Given the description of an element on the screen output the (x, y) to click on. 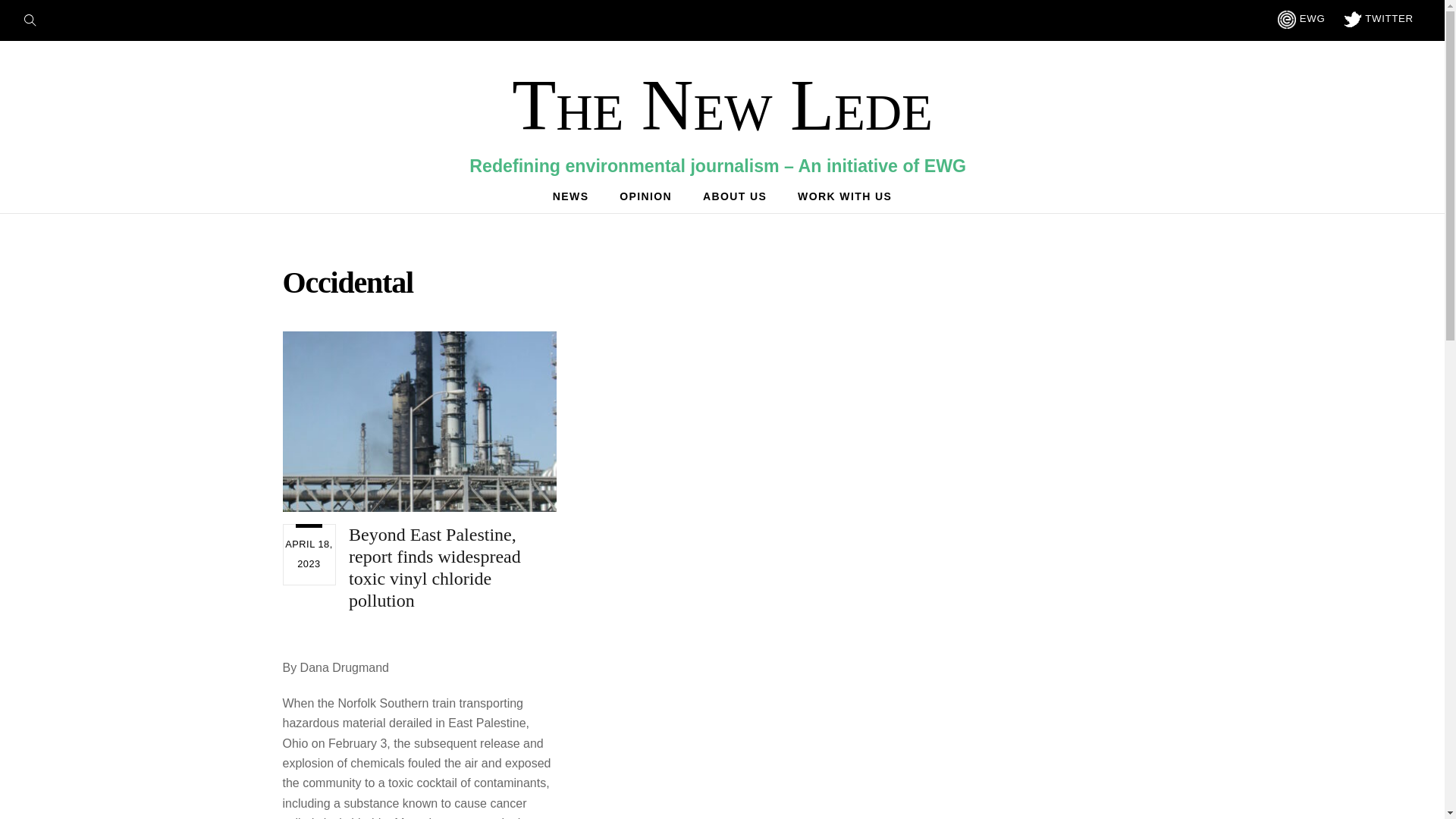
Chemical safety board formosa plastics (721, 196)
TWITTER (419, 421)
OPINION (1378, 18)
WORK WITH US (645, 196)
Search (845, 196)
NEWS (35, 18)
The New Lede (570, 196)
The New Lede (722, 105)
ABOUT US (722, 105)
